Given the description of an element on the screen output the (x, y) to click on. 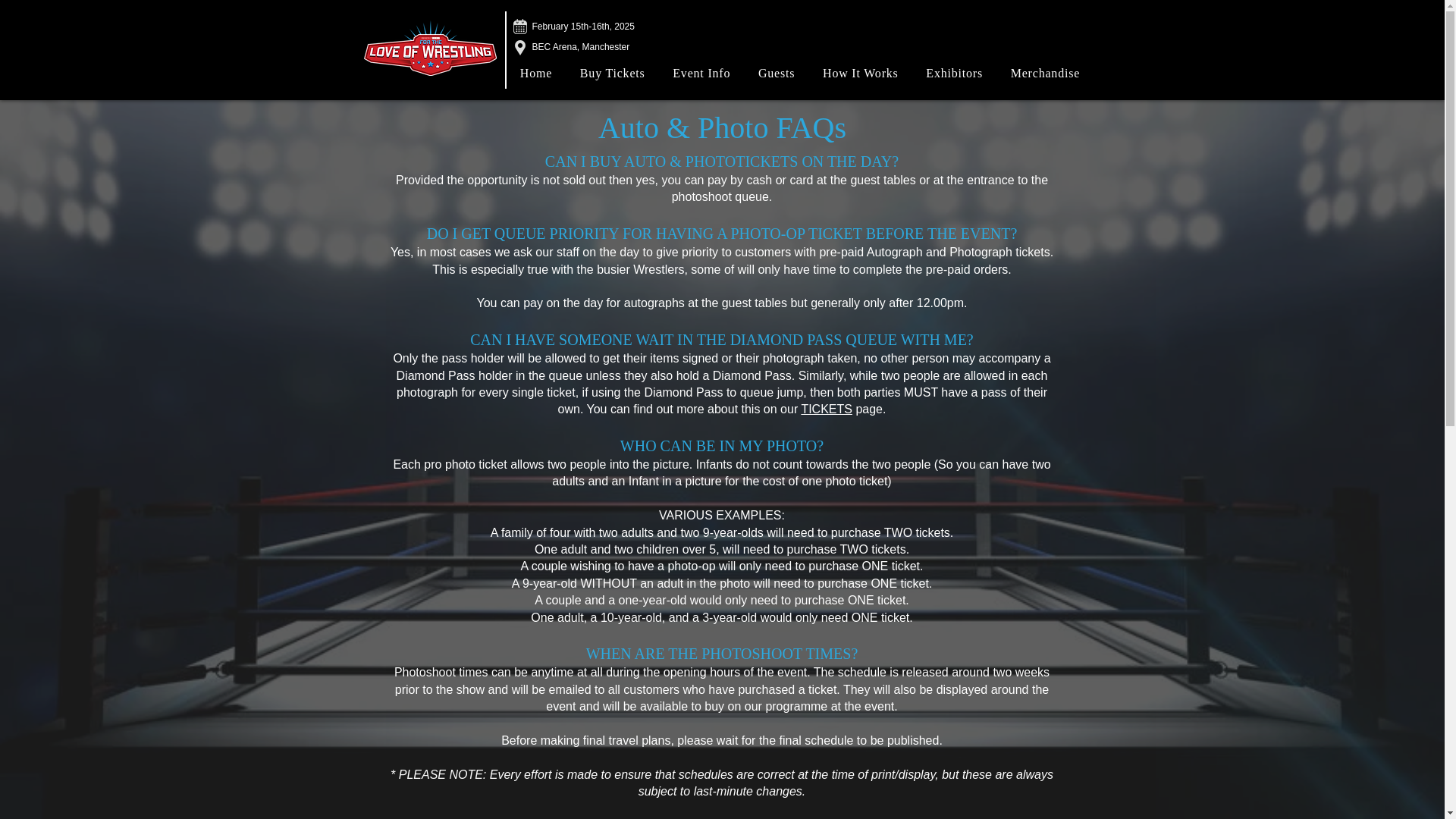
Home (536, 72)
Guests (776, 72)
TICKETS (825, 408)
